Given the description of an element on the screen output the (x, y) to click on. 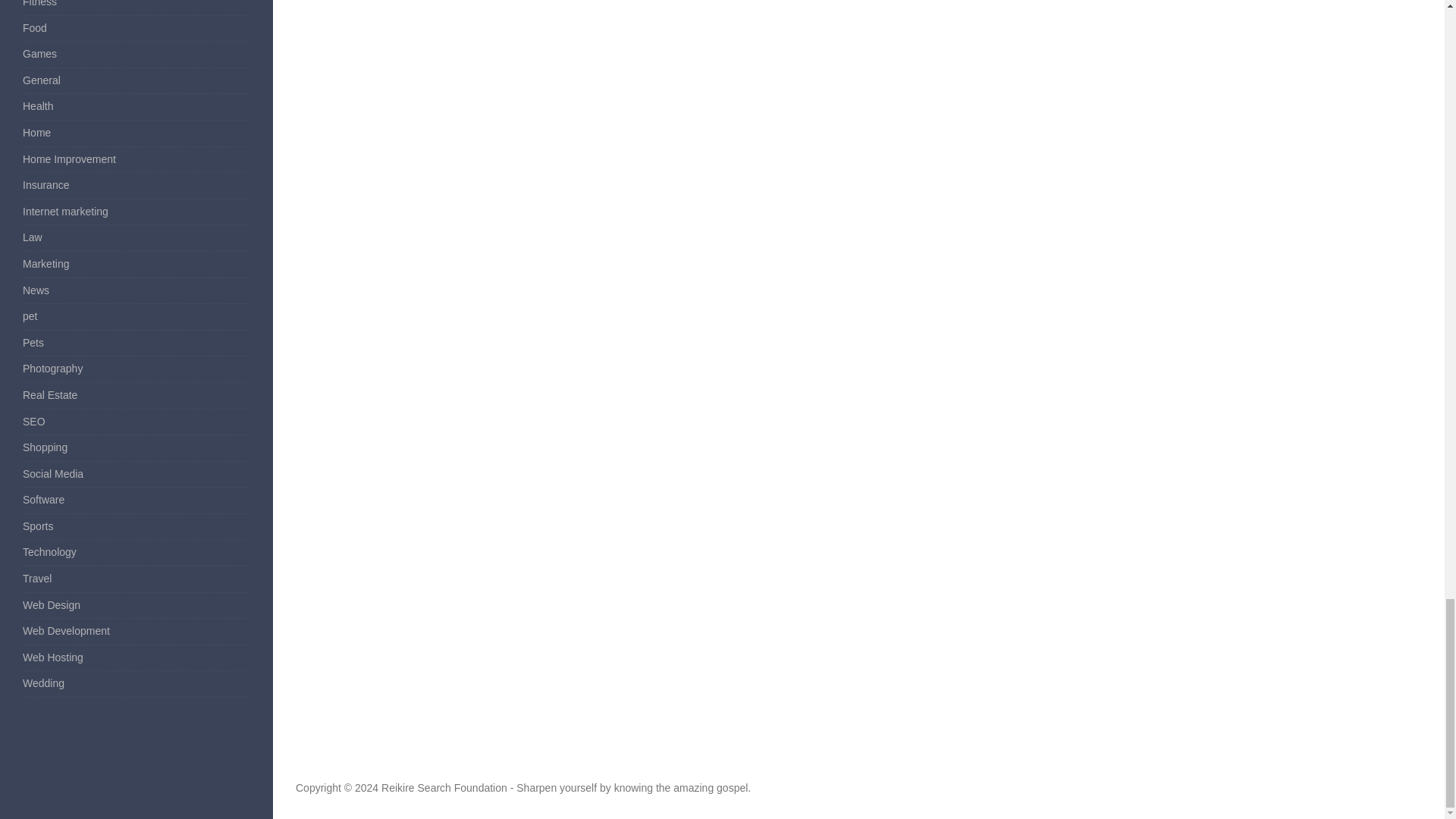
Reikire Search Foundation (443, 787)
